Given the description of an element on the screen output the (x, y) to click on. 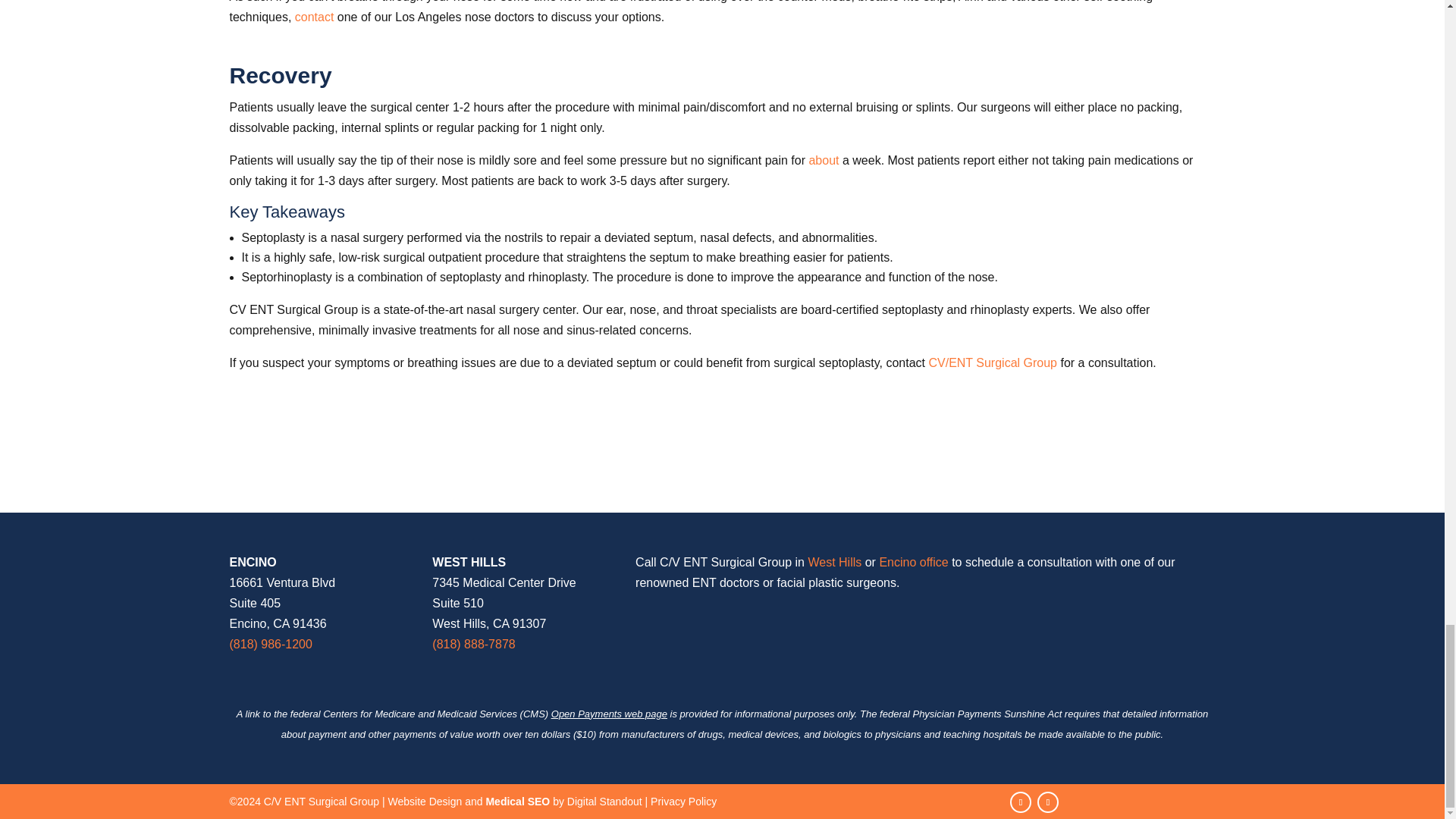
Follow on Instagram (1047, 802)
Follow on Facebook (1020, 802)
